Given the description of an element on the screen output the (x, y) to click on. 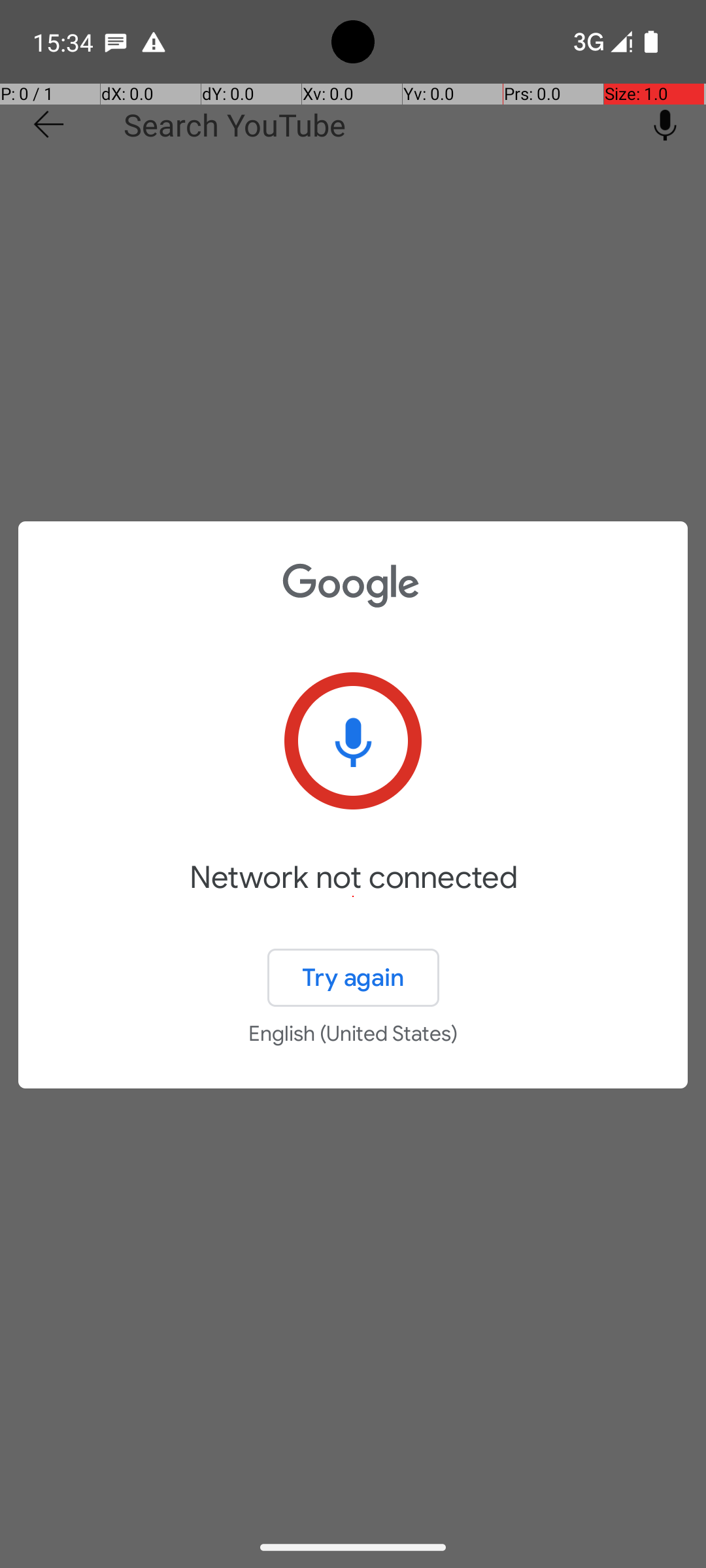
Network not connected Element type: android.widget.TextView (352, 895)
Try again Element type: android.widget.Button (353, 977)
